Given the description of an element on the screen output the (x, y) to click on. 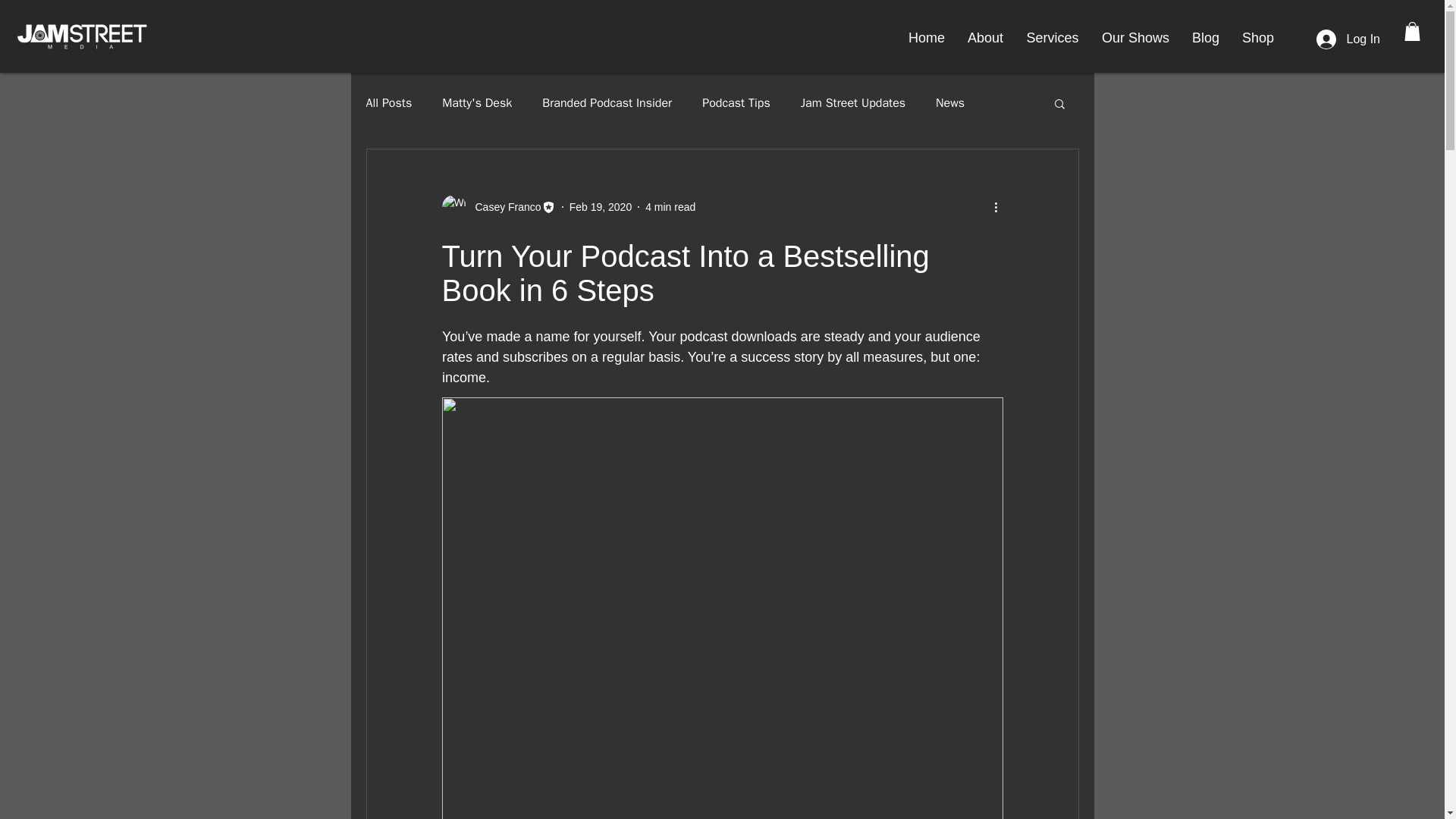
Matty's Desk (477, 103)
Podcast Tips (735, 103)
Branded Podcast Insider (606, 103)
Feb 19, 2020 (600, 205)
Log In (1348, 39)
Casey Franco (502, 206)
News (949, 103)
All Posts (388, 103)
Jam Street Updates (852, 103)
4 min read (670, 205)
